Given the description of an element on the screen output the (x, y) to click on. 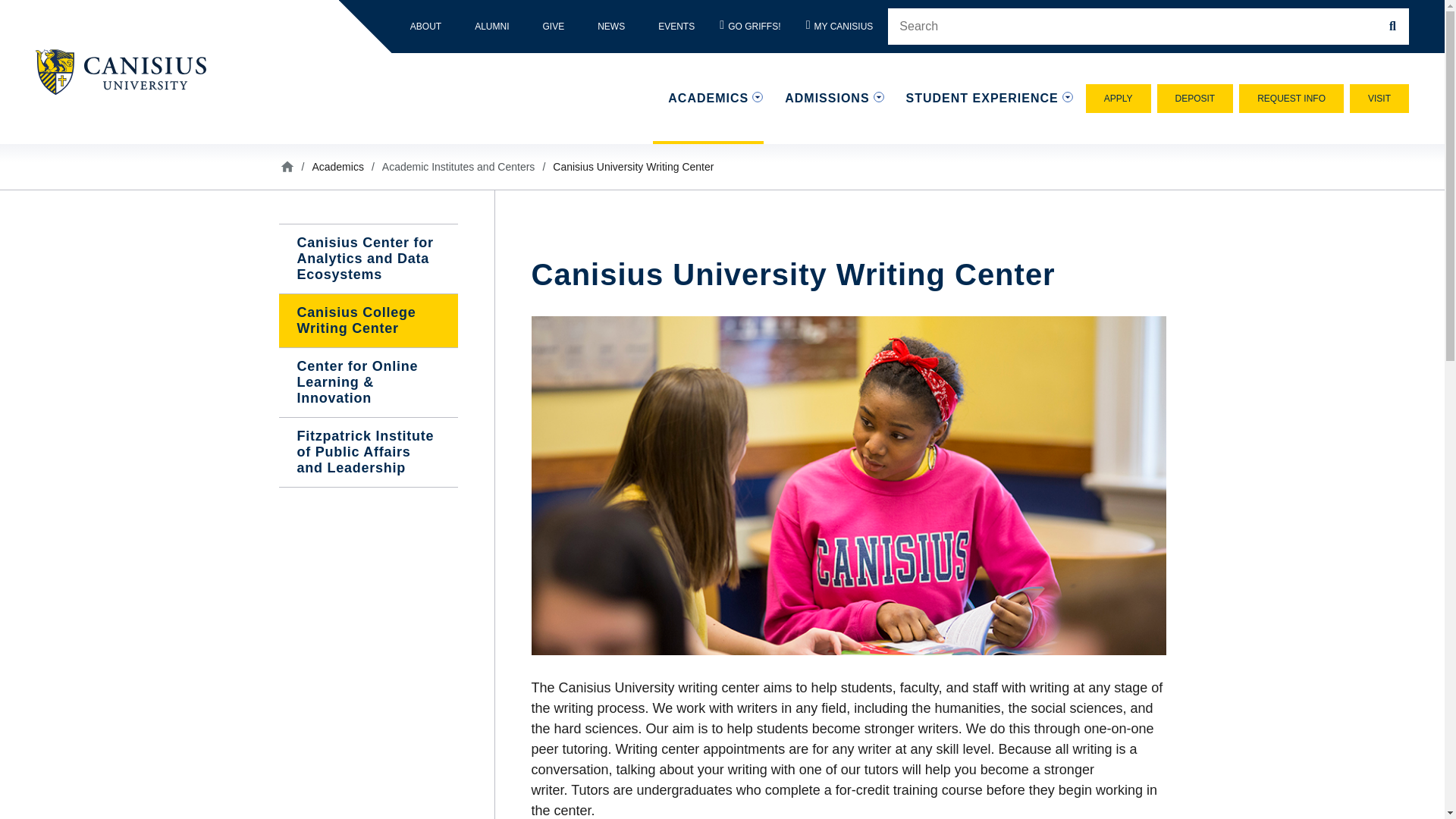
Home (126, 72)
Home Icon Created with Sketch. (287, 165)
